Given the description of an element on the screen output the (x, y) to click on. 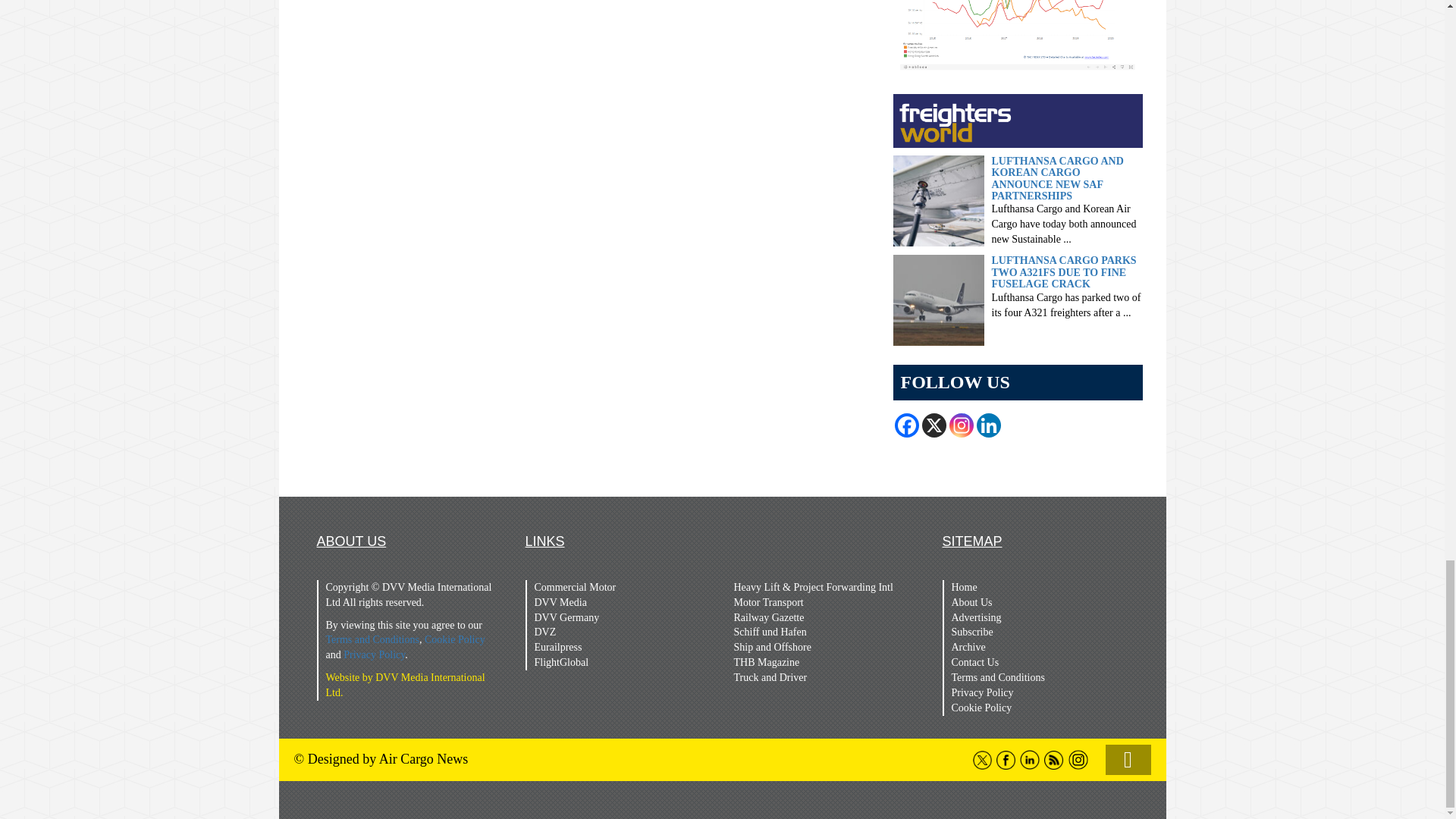
Lufthansa Cargo parks two A321Fs due to fine fuselage crack (938, 299)
Linkedin (988, 425)
X (933, 425)
Instagram (961, 425)
Facebook (906, 425)
